Given the description of an element on the screen output the (x, y) to click on. 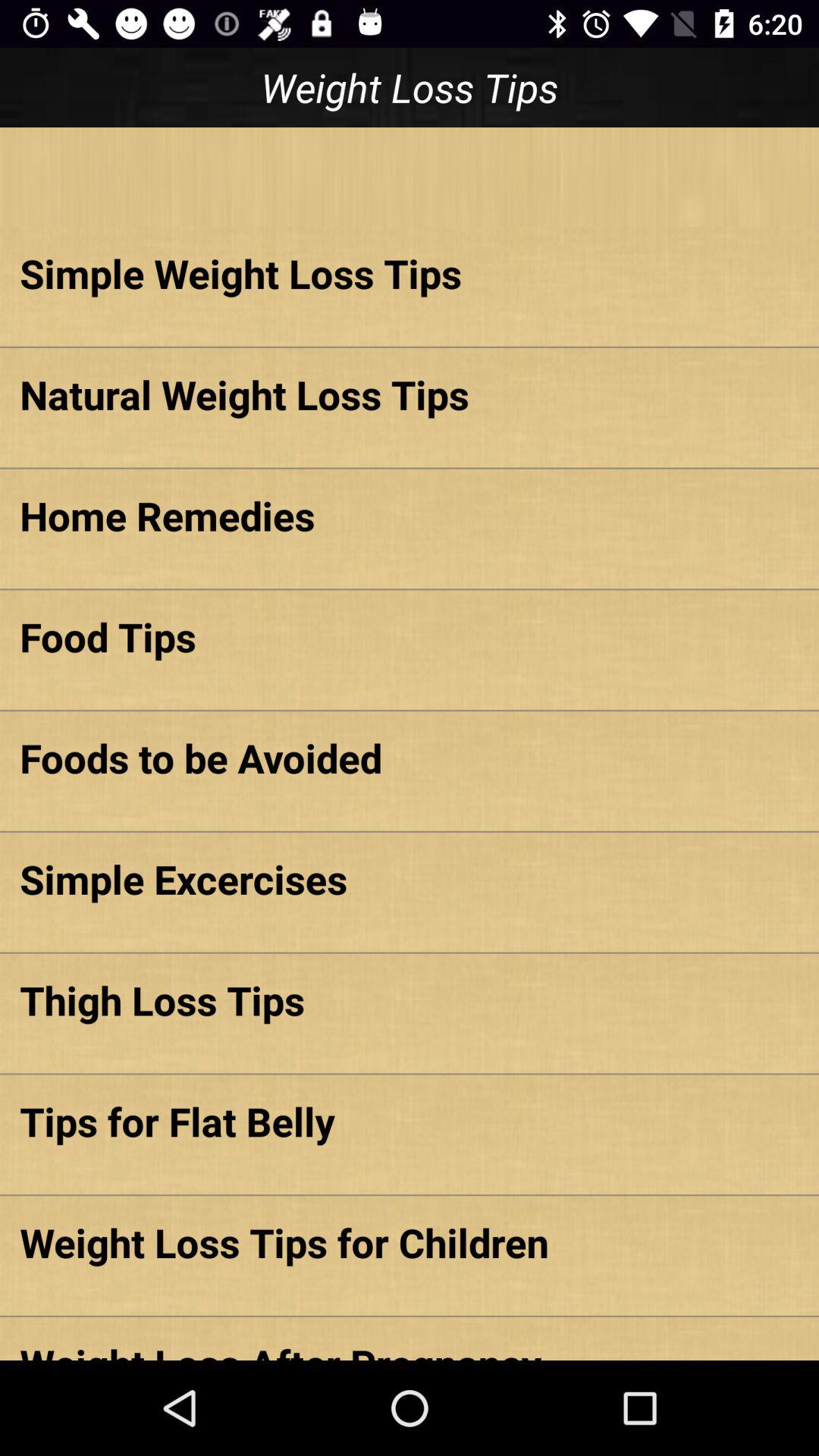
flip to the food tips (409, 636)
